Given the description of an element on the screen output the (x, y) to click on. 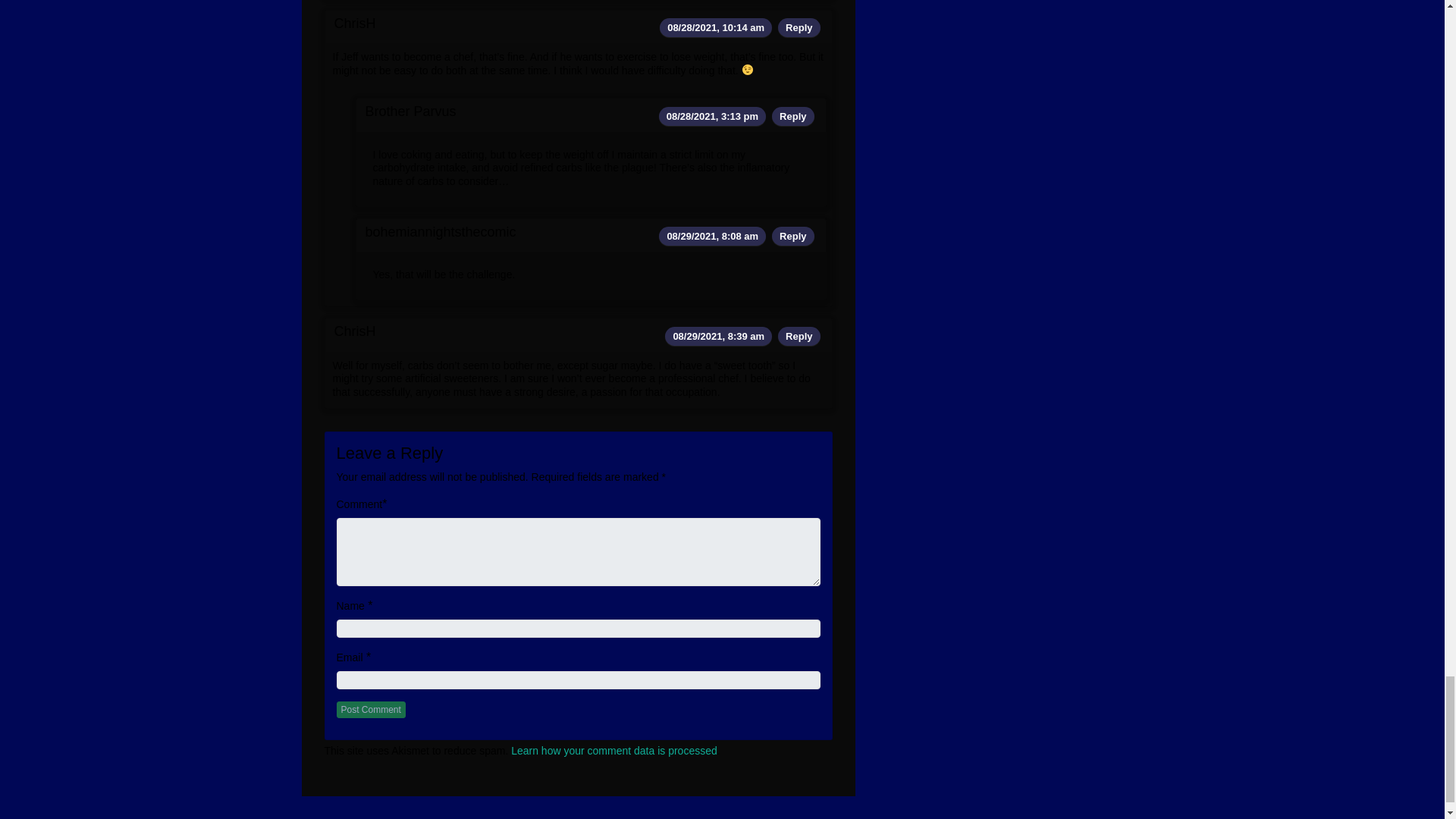
Post Comment (371, 709)
